Given the description of an element on the screen output the (x, y) to click on. 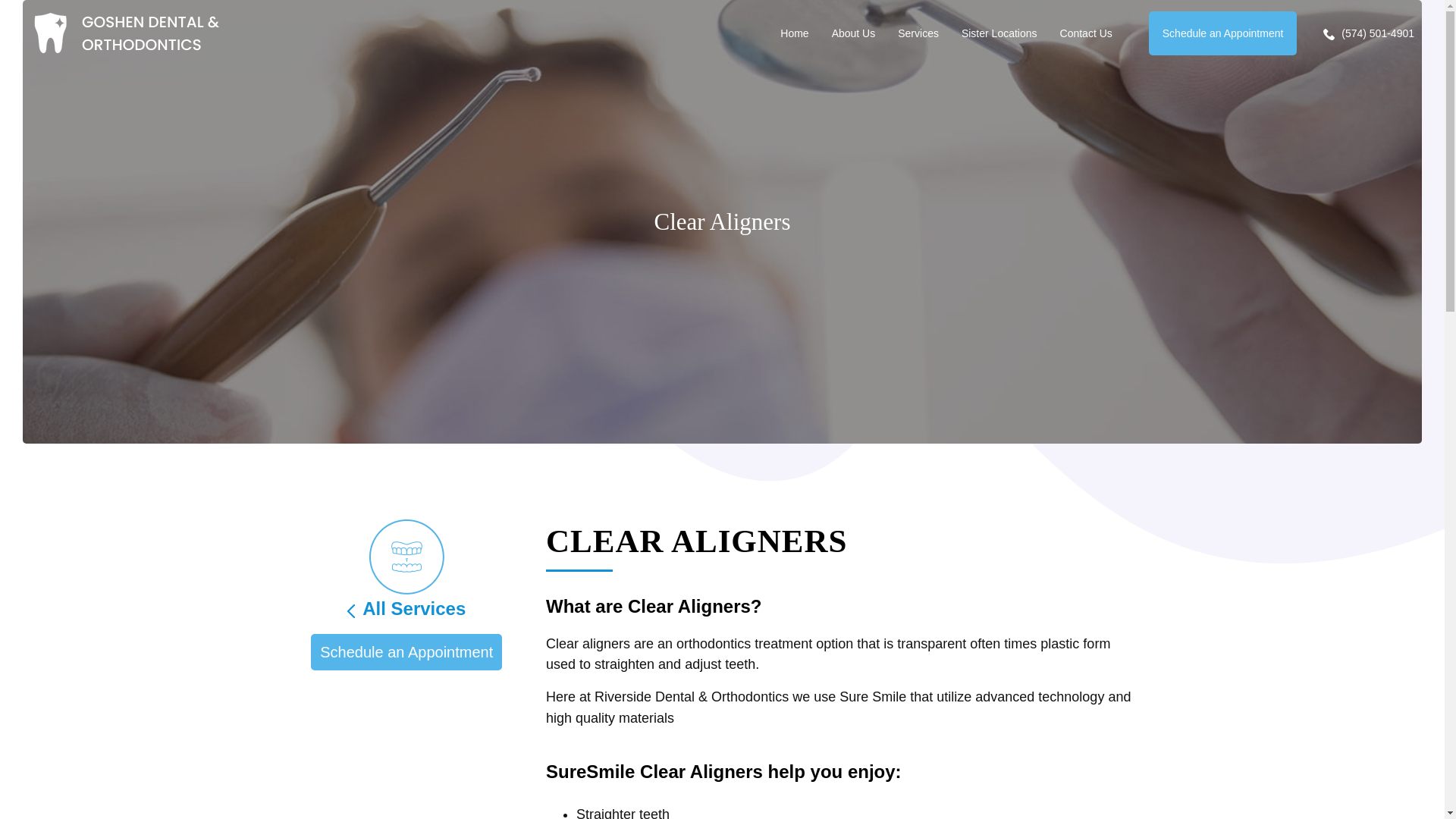
Contact Us (1086, 33)
Home (793, 33)
All Services (406, 608)
About Us (853, 33)
Sister Locations (999, 33)
Services (917, 33)
Schedule an Appointment (1222, 33)
Schedule an Appointment (406, 651)
